Given the description of an element on the screen output the (x, y) to click on. 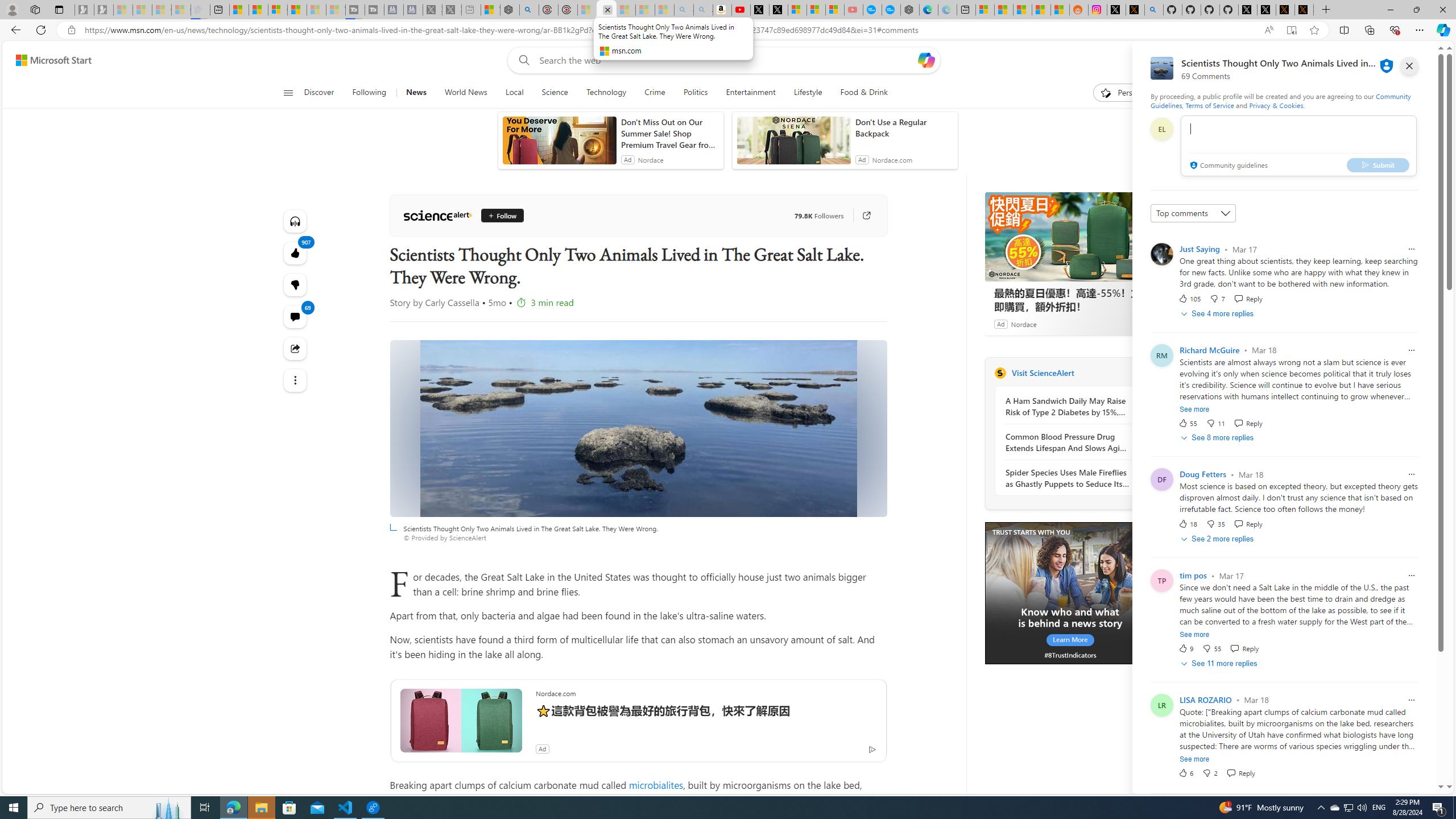
Log in to X / X (1116, 9)
Local (514, 92)
anim-content (793, 144)
To get missing image descriptions, open the context menu. (1070, 593)
See 8 more replies (1218, 437)
Technology (606, 92)
Food & Drink (864, 92)
